Given the description of an element on the screen output the (x, y) to click on. 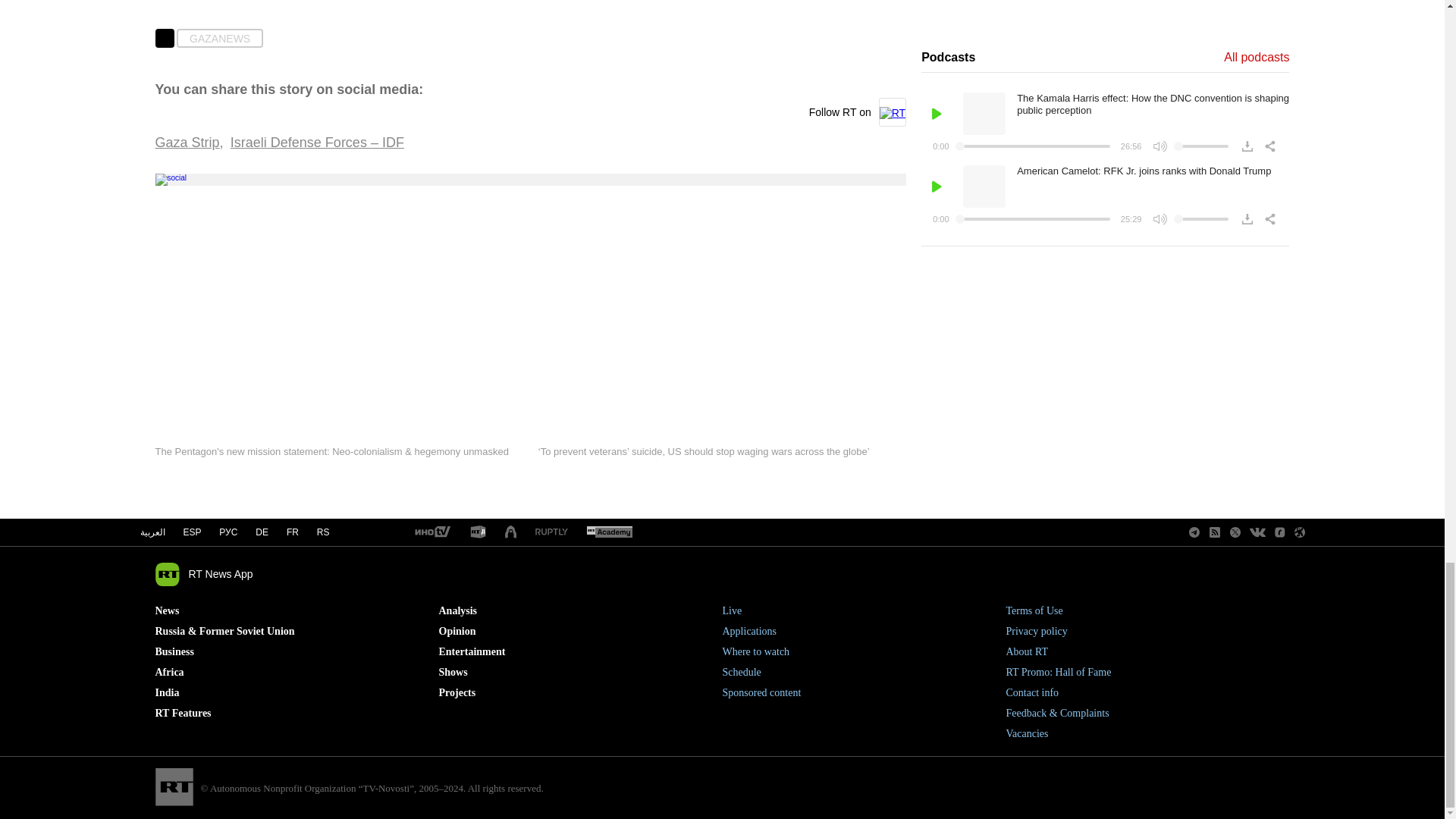
RT  (551, 532)
RT  (431, 532)
RT  (478, 532)
RT  (608, 532)
